Given the description of an element on the screen output the (x, y) to click on. 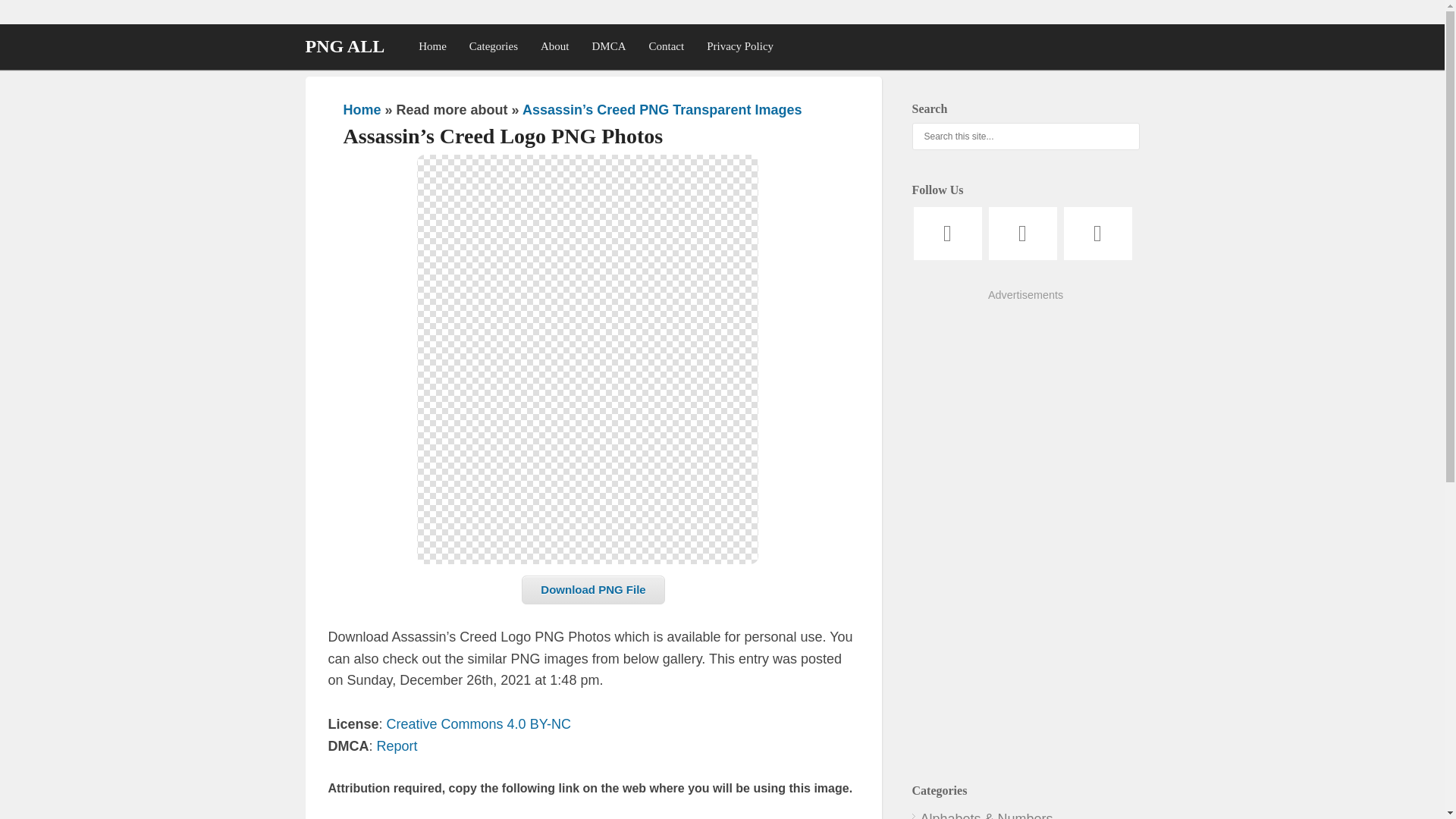
Home (432, 46)
About (554, 46)
Categories (493, 46)
Home (362, 109)
Privacy Policy (739, 46)
DMCA (608, 46)
Creative Commons 4.0 BY-NC (478, 724)
Download PNG File (592, 589)
PNG ALL (344, 46)
Contact (666, 46)
